Given the description of an element on the screen output the (x, y) to click on. 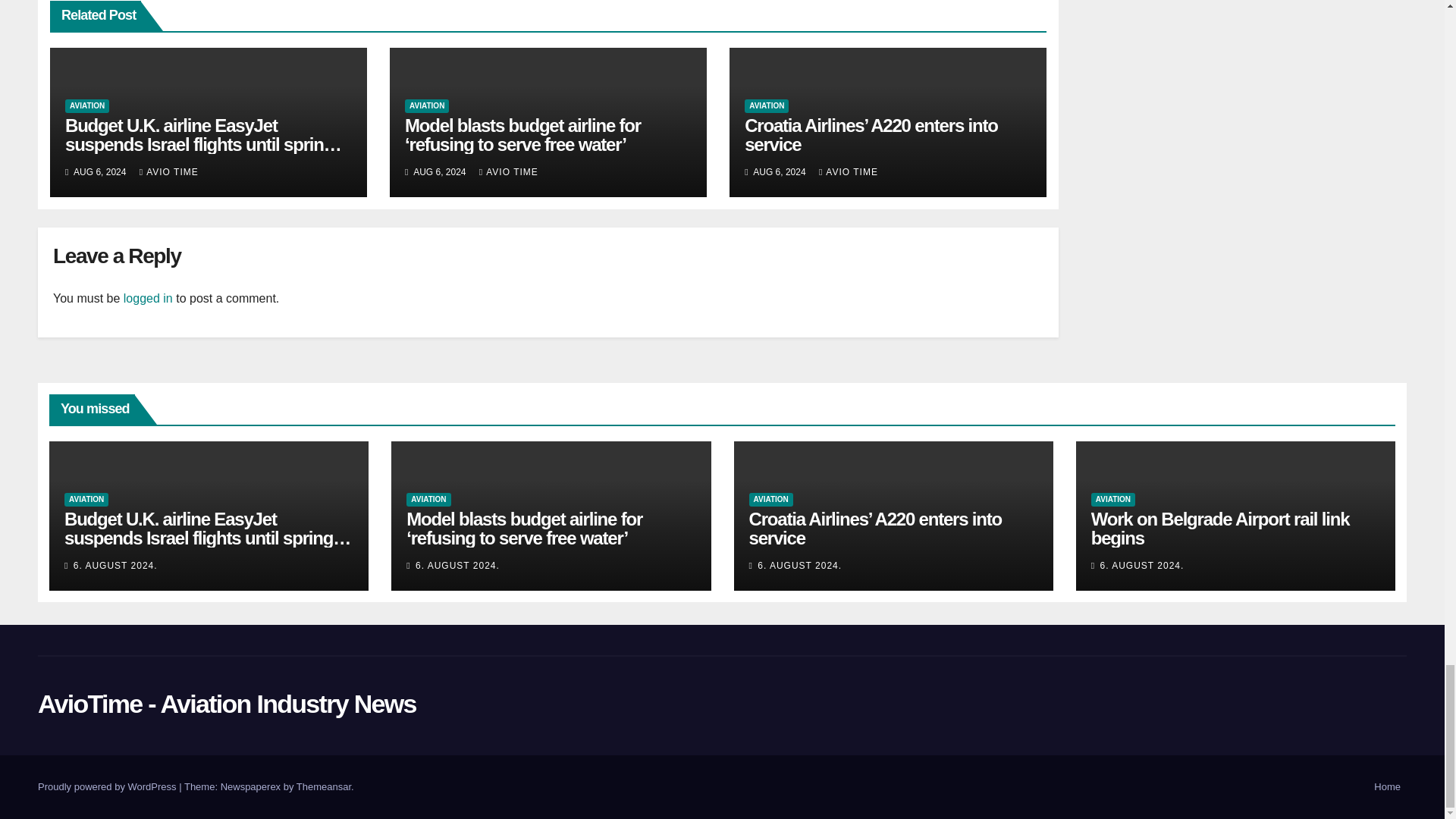
AVIATION (87, 106)
Home (1387, 786)
Permalink to: Work on Belgrade Airport rail link begins (1219, 527)
